Given the description of an element on the screen output the (x, y) to click on. 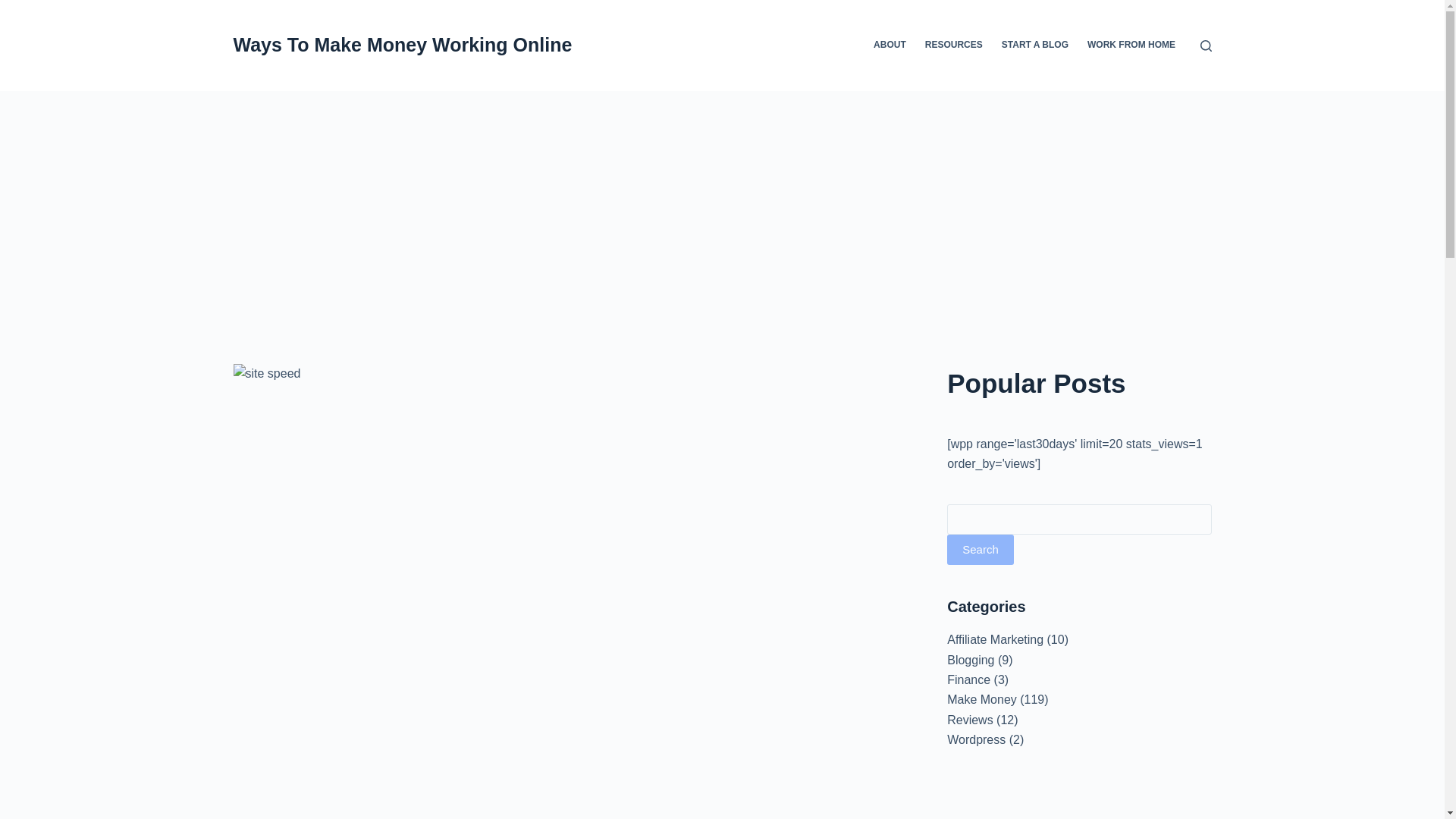
ABOUT (889, 45)
Make Money (981, 698)
Blogging (970, 659)
Wordpress (976, 739)
START A BLOG (1034, 45)
Search (980, 549)
RESOURCES (953, 45)
Finance (968, 679)
Reviews (969, 719)
WORK FROM HOME (1131, 45)
Affiliate Marketing (995, 639)
Skip to content (15, 7)
Ways To Make Money Working Online (402, 44)
Search (980, 549)
